Given the description of an element on the screen output the (x, y) to click on. 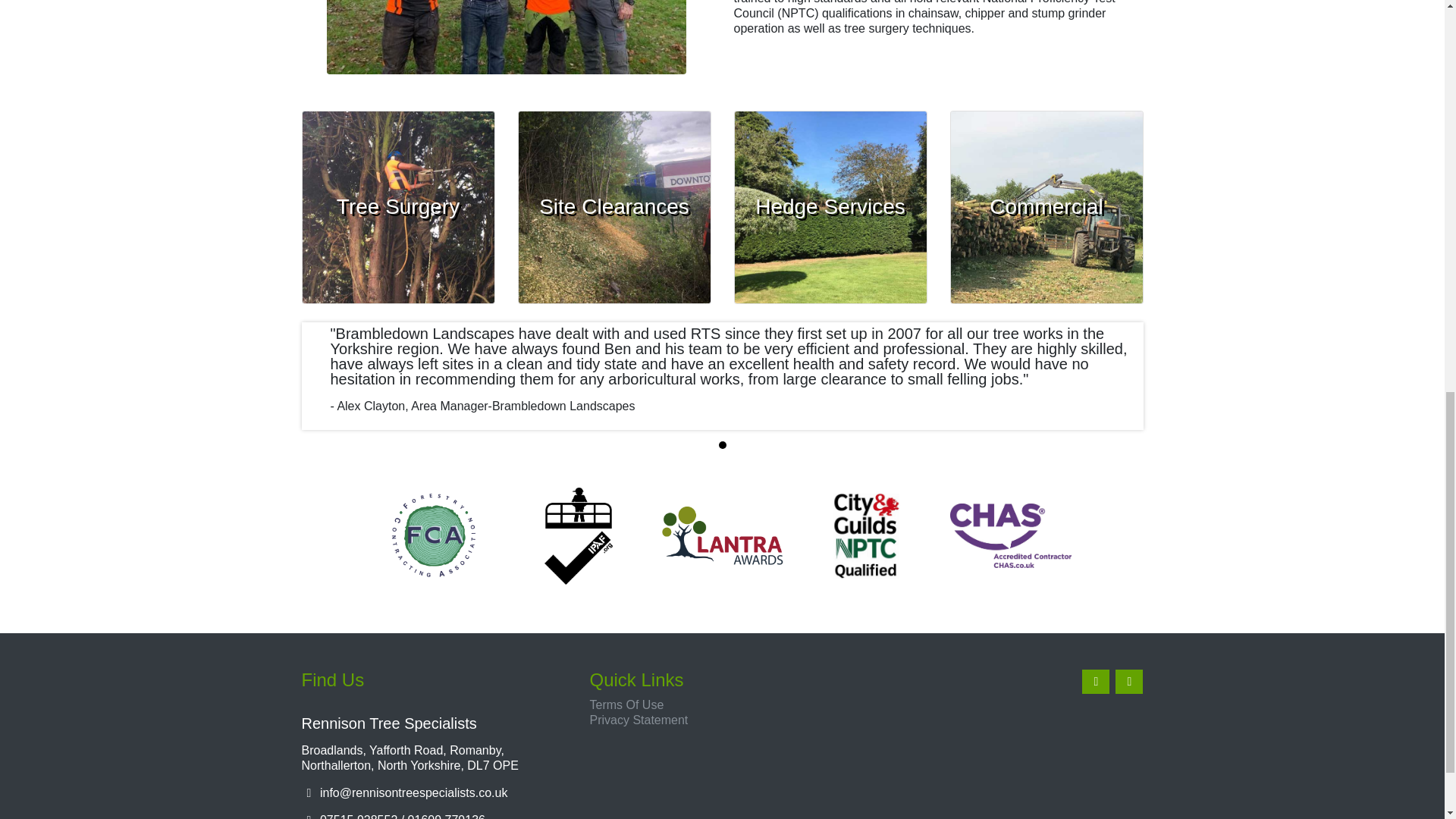
1 (722, 444)
Site Clearances (614, 207)
Commercial (1046, 207)
Hedge Services (829, 207)
Tree Surgery (397, 207)
Terms Of Use (626, 704)
Privacy Statement (638, 719)
